Given the description of an element on the screen output the (x, y) to click on. 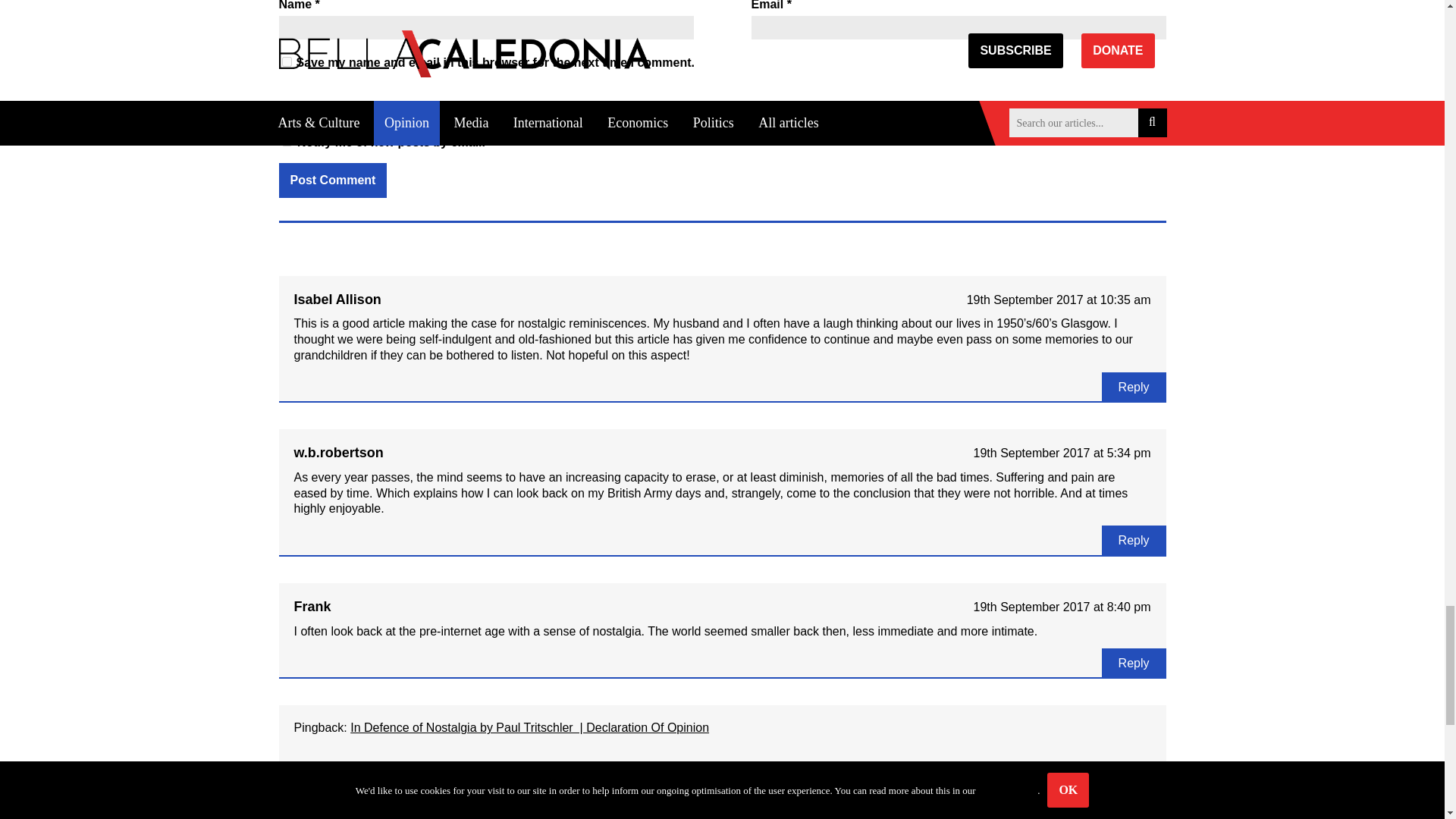
Post Comment (333, 180)
subscribe (287, 112)
subscribe (287, 141)
yes (287, 61)
